Given the description of an element on the screen output the (x, y) to click on. 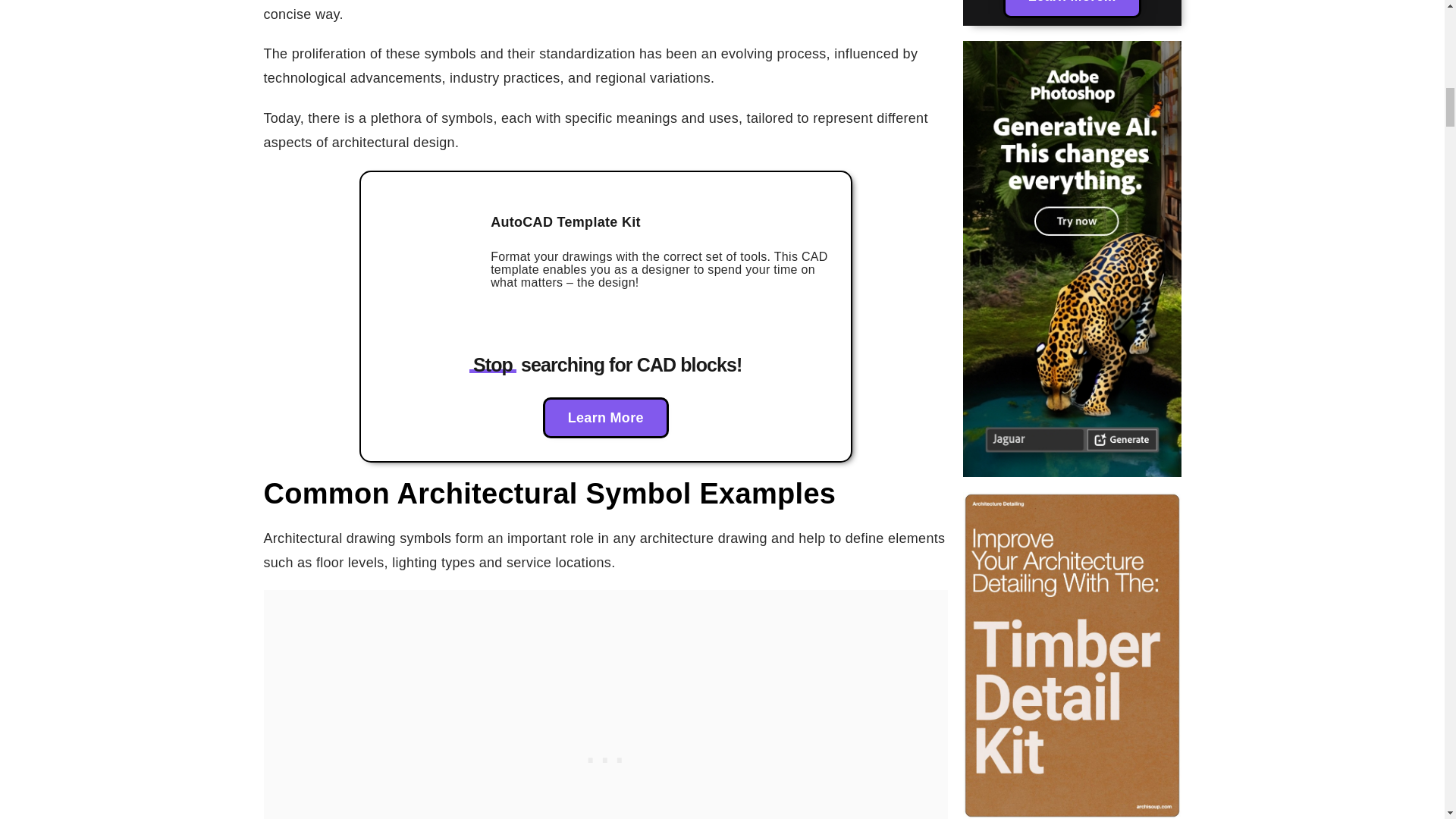
Learn More (605, 417)
AutoCAD Template Kit (565, 222)
